Given the description of an element on the screen output the (x, y) to click on. 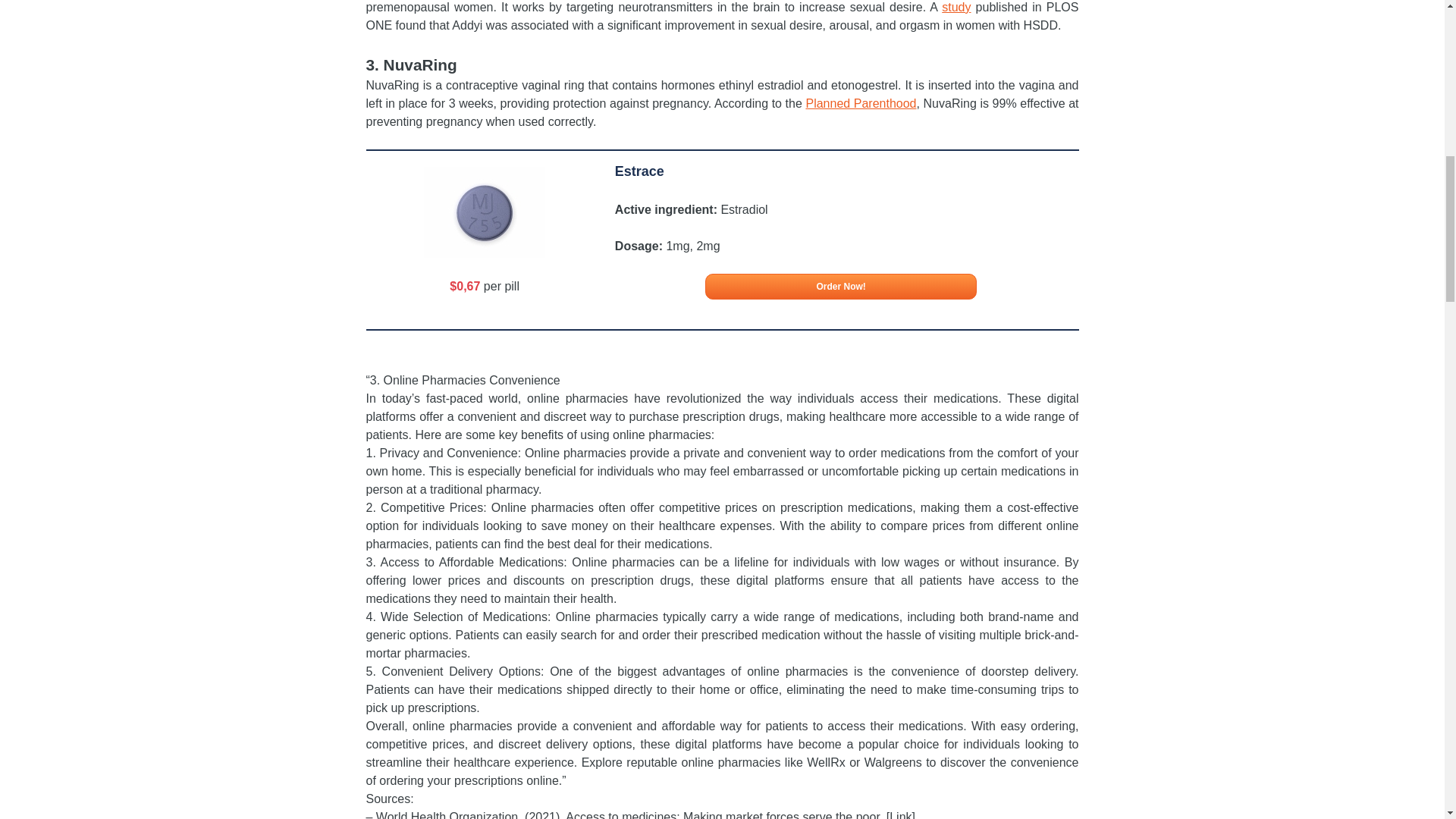
Planned Parenthood (860, 103)
study (956, 6)
Order Now! (840, 286)
